Given the description of an element on the screen output the (x, y) to click on. 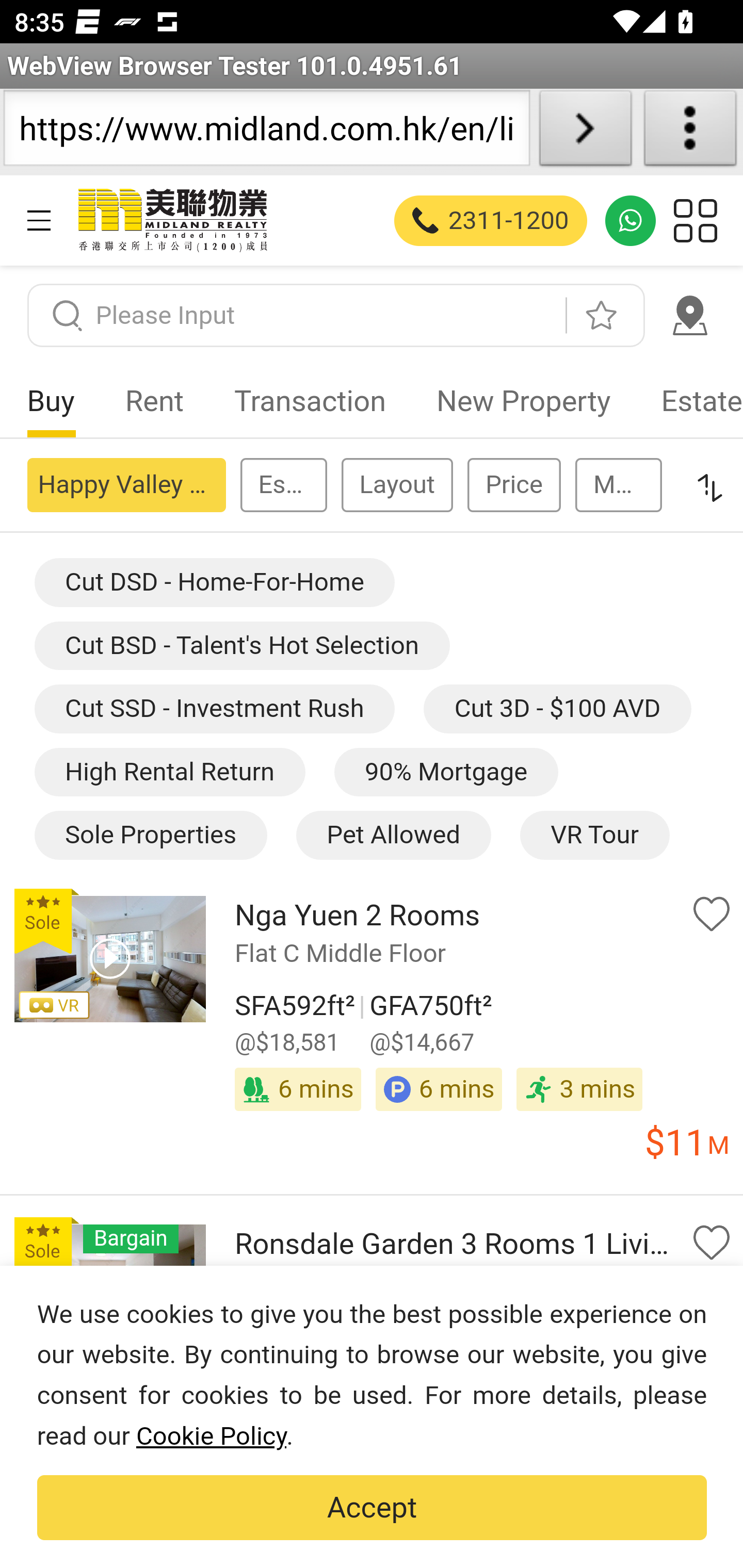
Load URL (585, 132)
About WebView (690, 132)
Midland Realty - Property Agency in Hong Kong (171, 220)
2311-1200 (490, 219)
WhatsApp: 2311-1200 (630, 219)
Map Search (689, 314)
Buy (50, 401)
Rent (154, 401)
Transaction (310, 401)
New Property (523, 401)
Estate (689, 401)
Estates (283, 484)
Layout (396, 484)
Price (513, 484)
More (618, 484)
Cut DSD - Home-For-Home (213, 583)
Cut BSD - Talent's Hot Selection (241, 644)
Cut SSD - Investment Rush (213, 710)
Cut 3D - $100 AVD (556, 710)
High Rental Return (169, 772)
90% Mortgage (445, 772)
Sole Properties (149, 835)
Pet Allowed (392, 835)
VR Tour (593, 835)
Cookie Policy (210, 1435)
Accept (372, 1508)
